Given the description of an element on the screen output the (x, y) to click on. 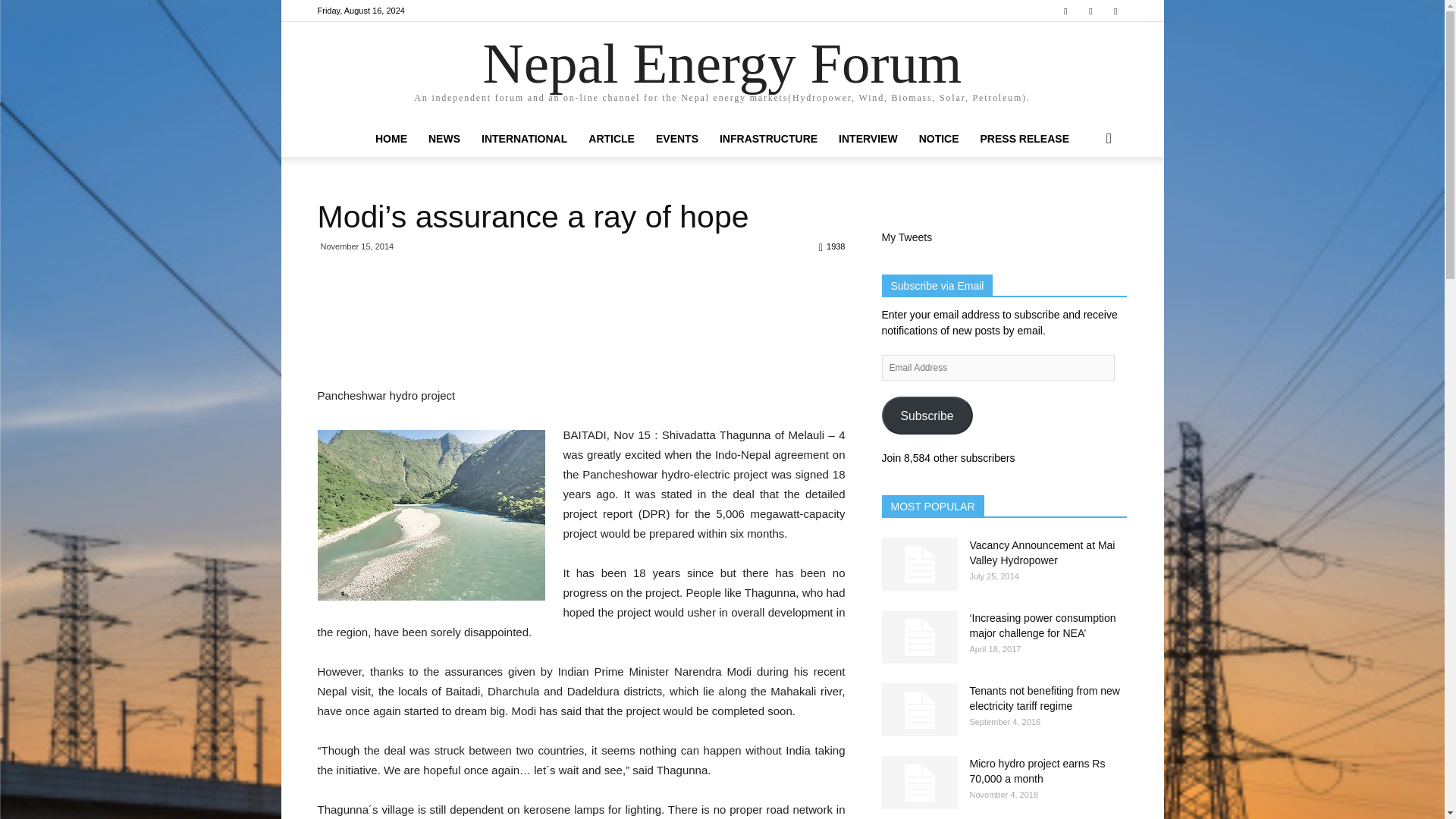
ARTICLE (611, 138)
HOME (391, 138)
NOTICE (938, 138)
INFRASTRUCTURE (768, 138)
Twitter (1114, 10)
INTERVIEW (868, 138)
NEWS (443, 138)
EVENTS (677, 138)
INTERNATIONAL (524, 138)
Mail (1090, 10)
